Given the description of an element on the screen output the (x, y) to click on. 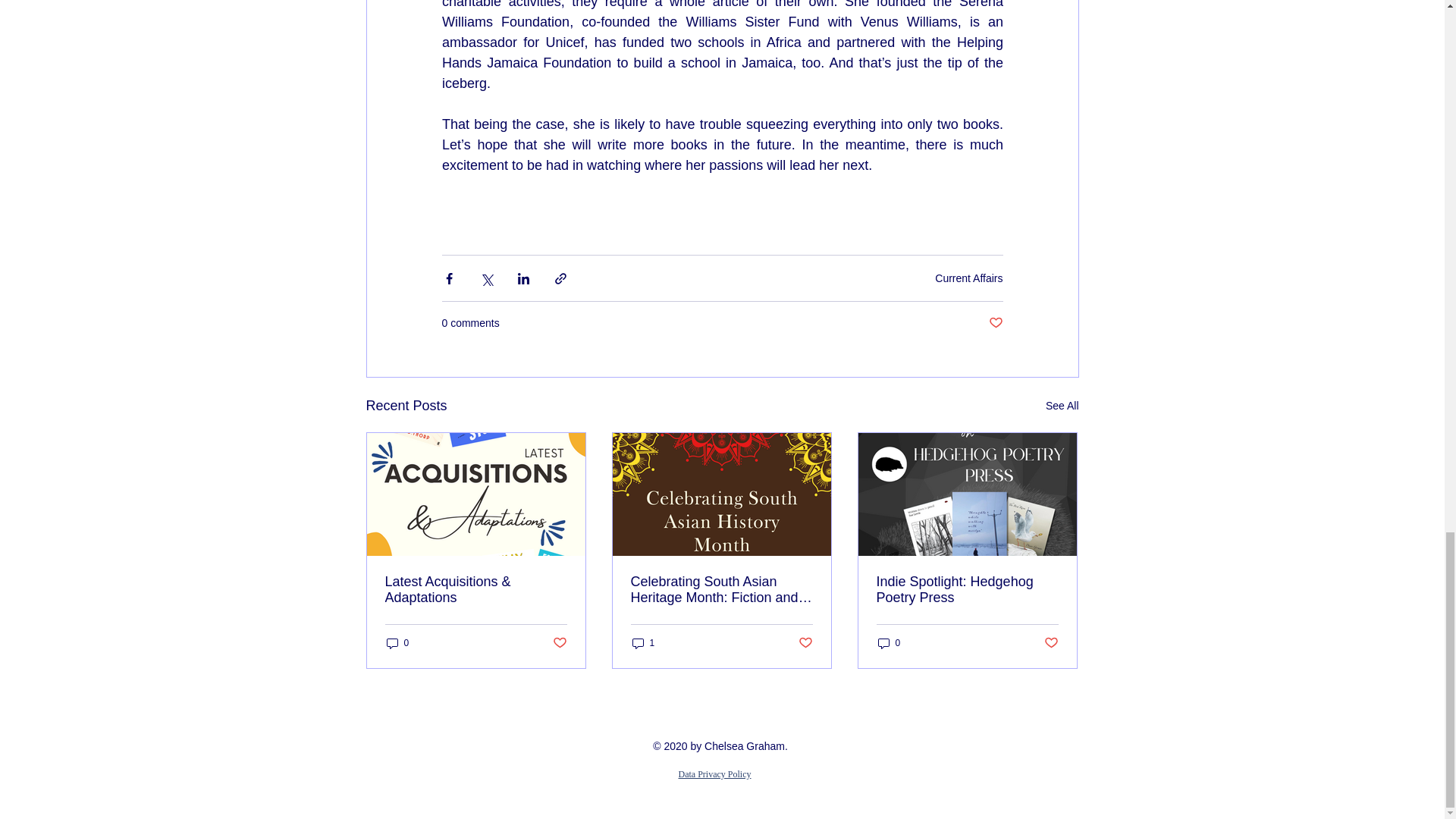
1 (643, 642)
0 (397, 642)
Post not marked as liked (995, 323)
Post not marked as liked (804, 643)
0 (889, 642)
Indie Spotlight: Hedgehog Poetry Press (967, 590)
See All (1061, 405)
Data Privacy Policy (714, 772)
Current Affairs (968, 277)
Post not marked as liked (1050, 643)
